Given the description of an element on the screen output the (x, y) to click on. 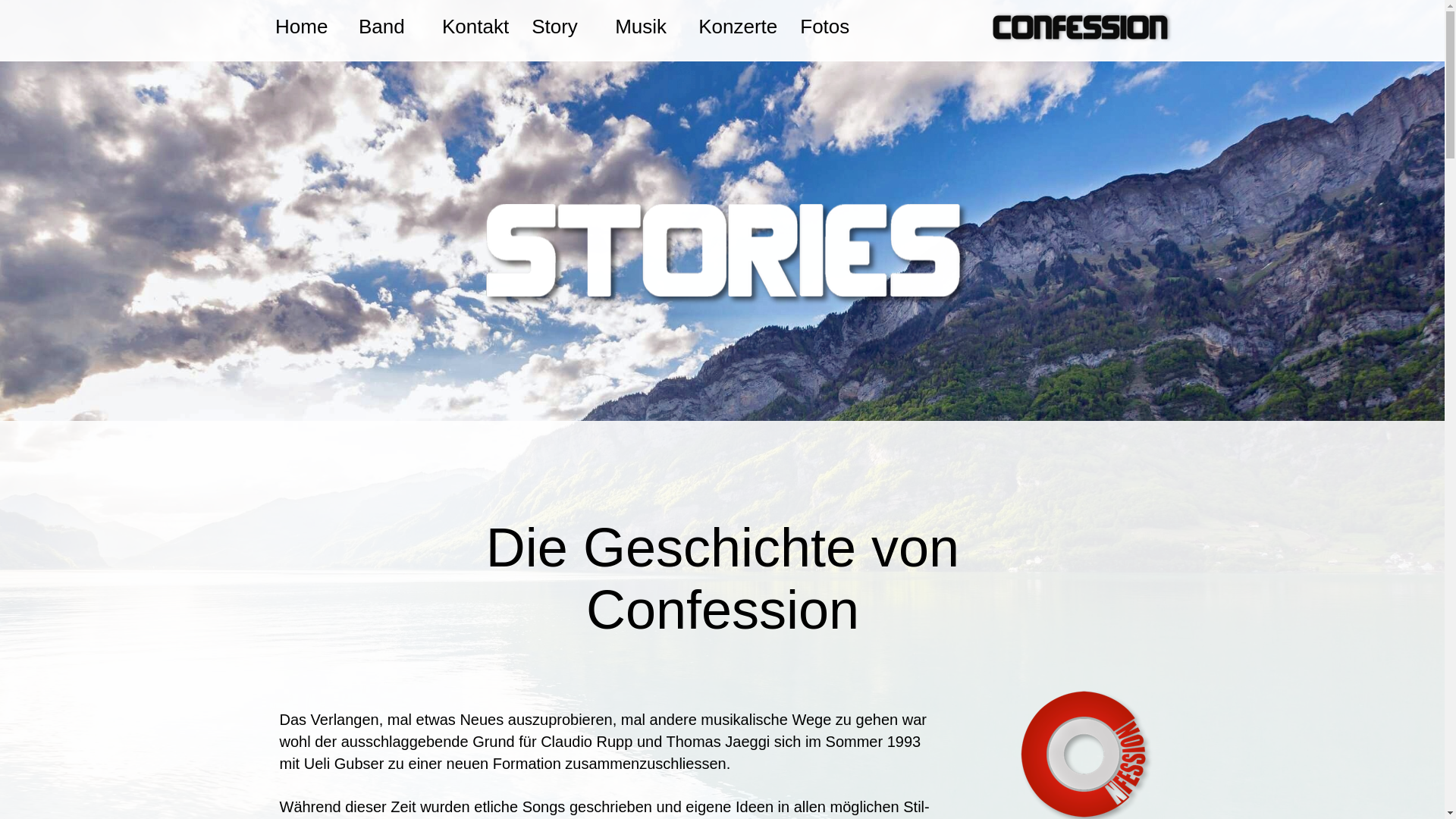
Fotos Element type: text (830, 25)
Kontakt Element type: text (475, 25)
Musik Element type: text (645, 25)
Story Element type: text (561, 25)
Band Element type: text (388, 25)
Home Element type: text (305, 25)
Konzerte Element type: text (737, 25)
